Given the description of an element on the screen output the (x, y) to click on. 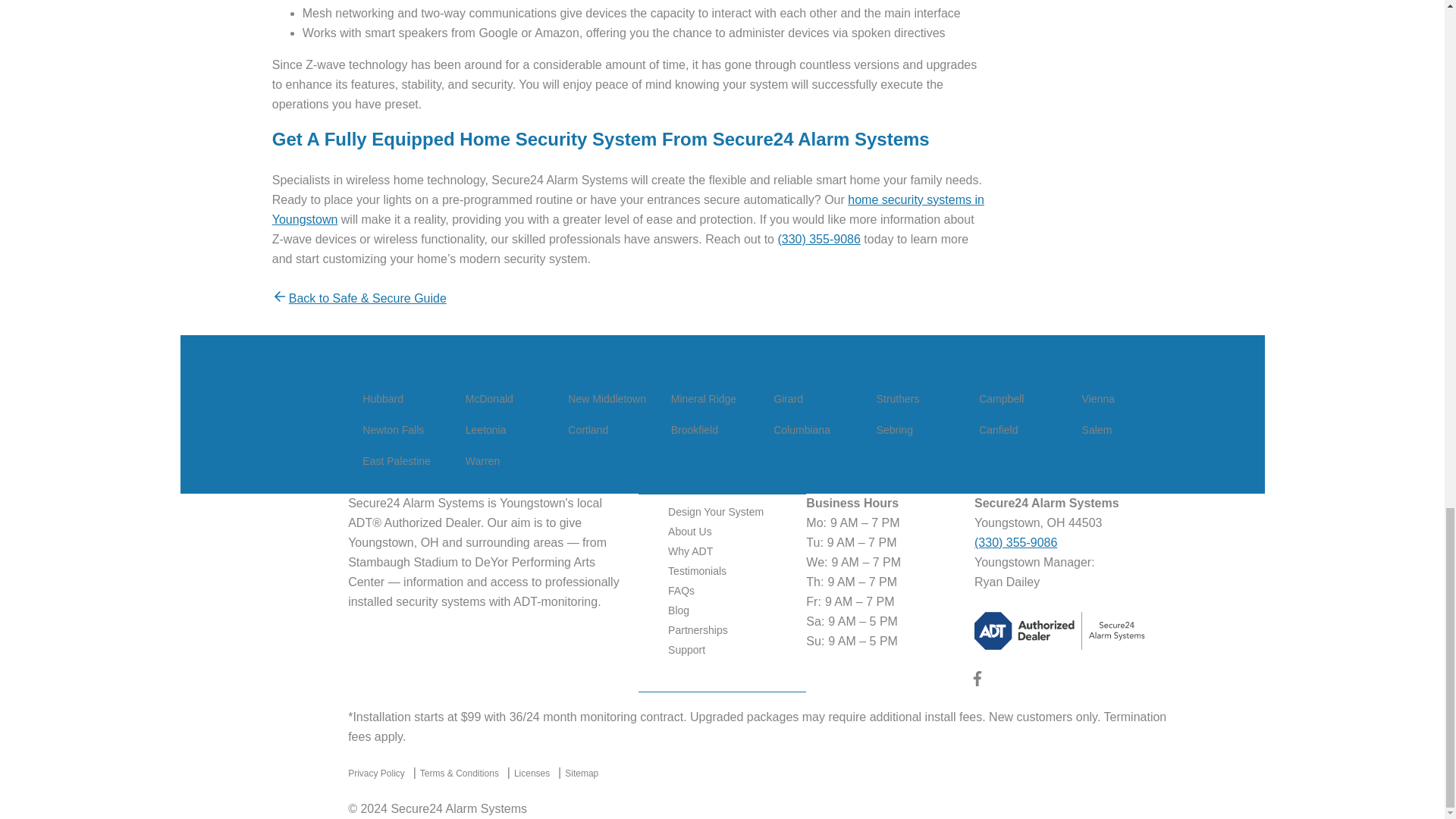
Like us on Facebook (977, 681)
